Given the description of an element on the screen output the (x, y) to click on. 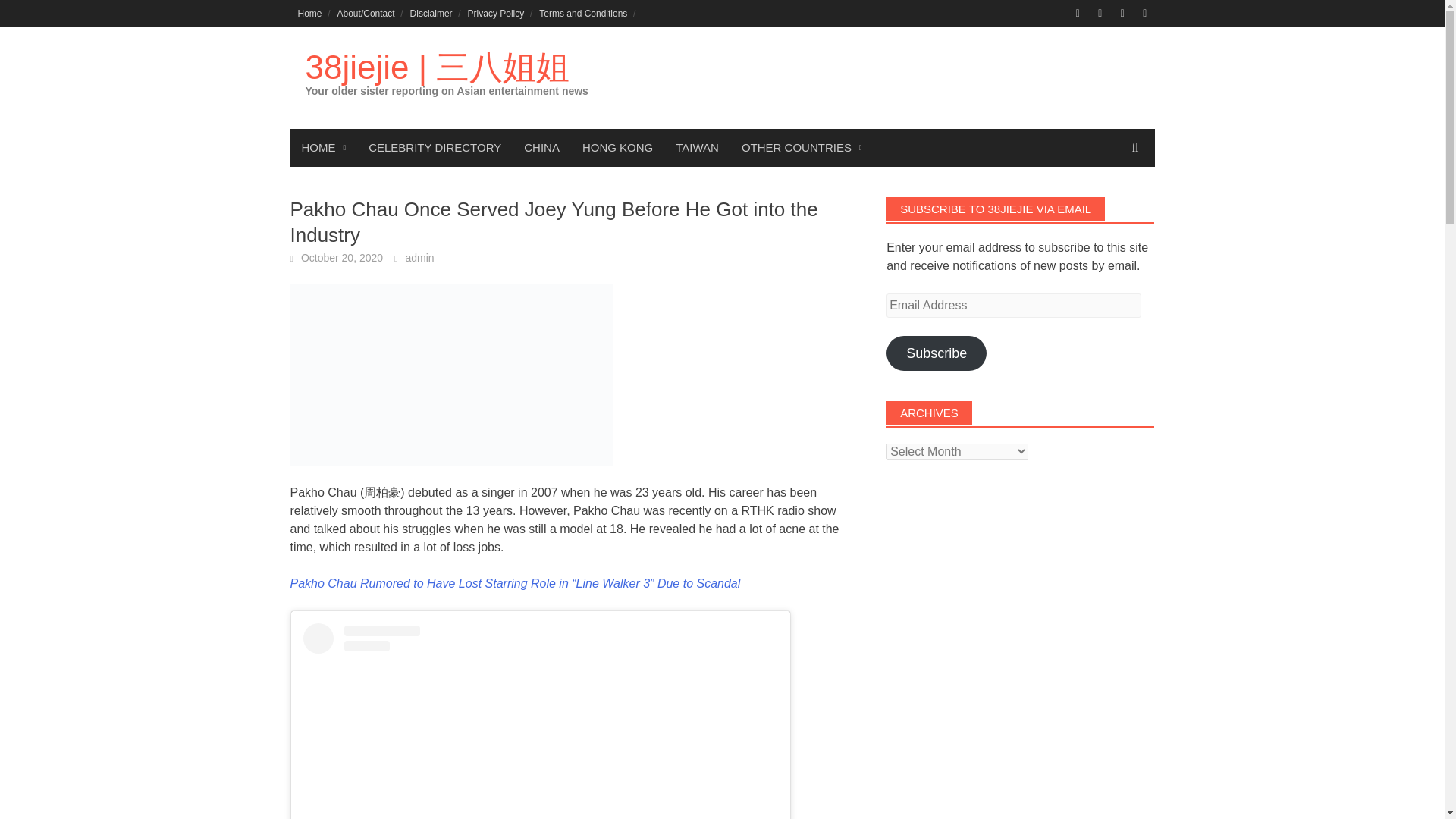
HOME (322, 147)
CELEBRITY DIRECTORY (434, 147)
Home (309, 13)
OTHER COUNTRIES (801, 147)
CHINA (541, 147)
View this post on Instagram (539, 721)
HONG KONG (616, 147)
admin (418, 257)
Disclaimer (431, 13)
Privacy Policy (496, 13)
